Given the description of an element on the screen output the (x, y) to click on. 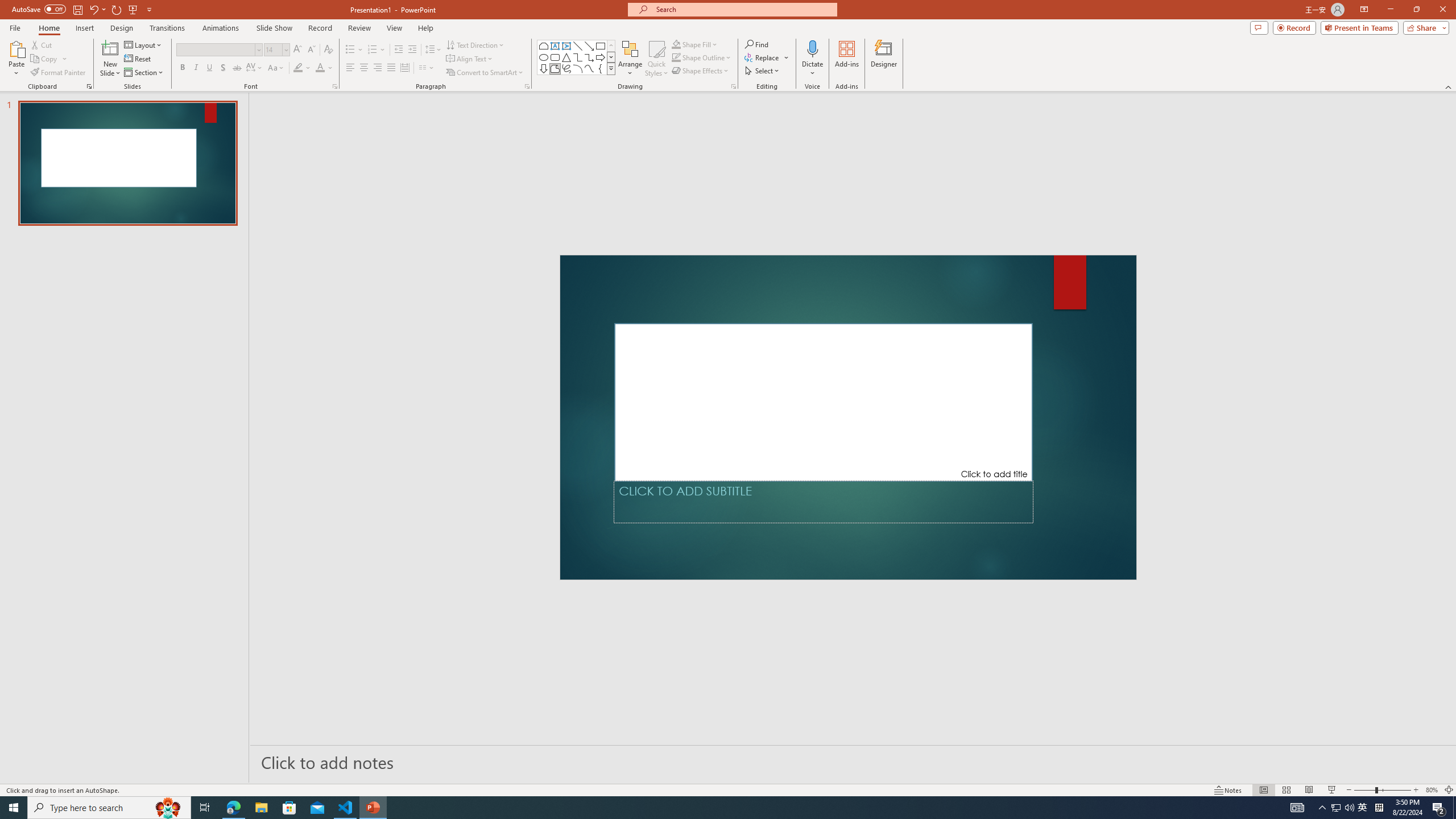
Row up (611, 45)
Microsoft search (742, 9)
Office Clipboard... (88, 85)
Convert to SmartArt (485, 72)
Increase Indent (412, 49)
Shadow (223, 67)
Increase Font Size (297, 49)
Paragraph... (526, 85)
Shape Fill Orange, Accent 2 (675, 44)
